Given the description of an element on the screen output the (x, y) to click on. 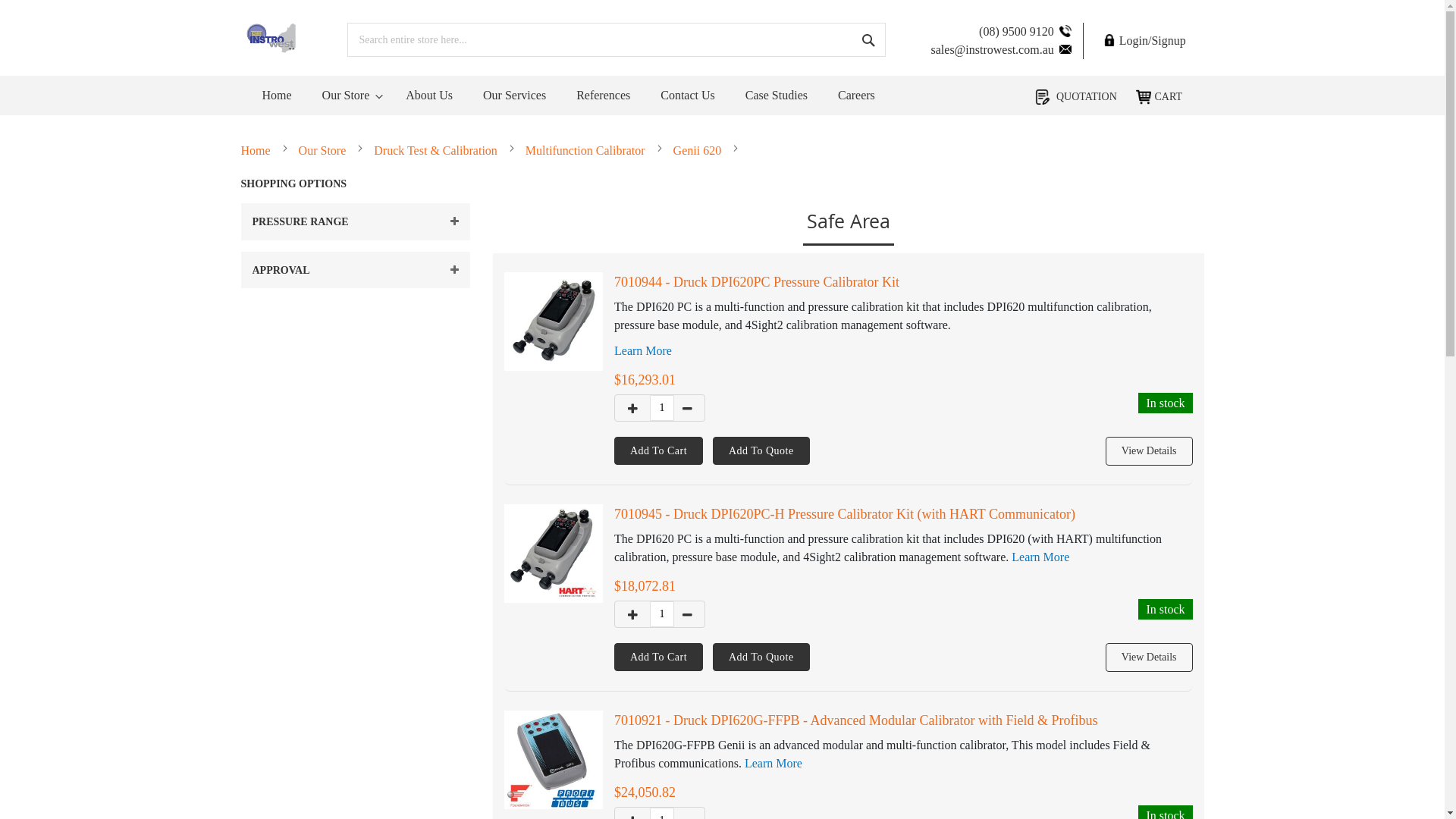
Genii 620 Element type: text (697, 150)
Home Element type: text (255, 150)
sales@instrowest.com.au Element type: text (1001, 49)
Add To Cart Element type: text (658, 657)
Learn More Element type: text (642, 350)
View Details Element type: text (1148, 657)
Druck Test & Calibration Element type: text (435, 150)
Case Studies Element type: text (776, 95)
(08) 9500 9120 Element type: text (1025, 31)
Contact Us Element type: text (687, 95)
Home Element type: text (277, 95)
About Us Element type: text (428, 95)
Learn More Element type: text (1040, 556)
Login/Signup Element type: text (1140, 40)
CART
My Cart Element type: text (1159, 96)
Add To Quote Element type: text (760, 450)
Our Services Element type: text (514, 95)
Our Store Element type: text (322, 150)
7010944 - Druck DPI620PC Pressure Calibrator Kit Element type: text (756, 281)
Our Store Element type: text (349, 95)
Add To Quote Element type: text (760, 657)
Qty Element type: hover (661, 407)
Search Element type: text (867, 39)
View Details Element type: text (1148, 450)
Multifunction Calibrator Element type: text (585, 150)
Learn More Element type: text (773, 762)
QUOTATION Element type: text (1075, 96)
Add To Cart Element type: text (658, 450)
Qty Element type: hover (661, 614)
References Element type: text (603, 95)
Careers Element type: text (856, 95)
